Given the description of an element on the screen output the (x, y) to click on. 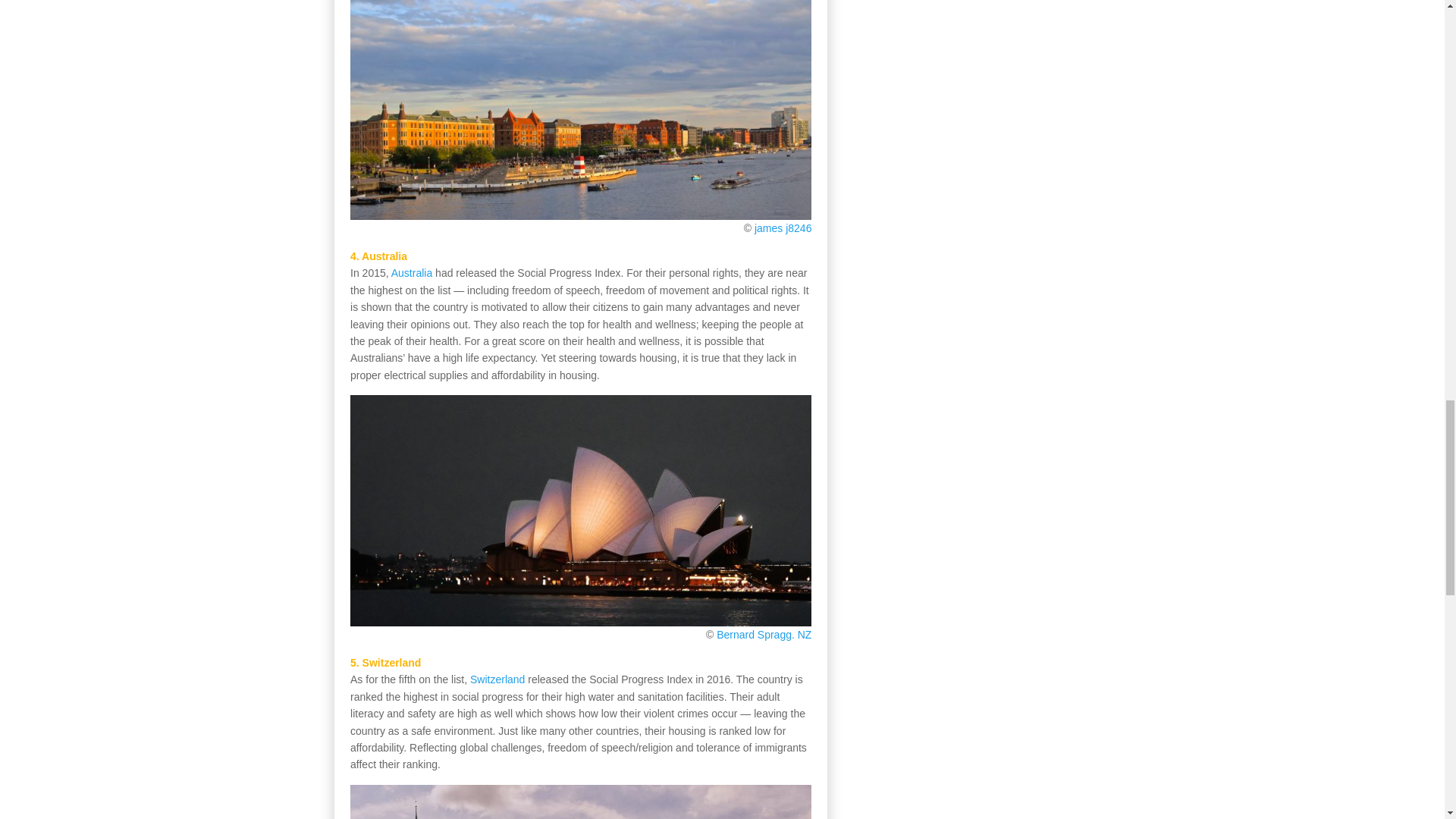
Australia (411, 272)
james j8246 (783, 227)
Switzerland (497, 679)
5. Switzerland (385, 662)
4. Australia (378, 256)
Bernard Spragg. NZ (763, 633)
